Given the description of an element on the screen output the (x, y) to click on. 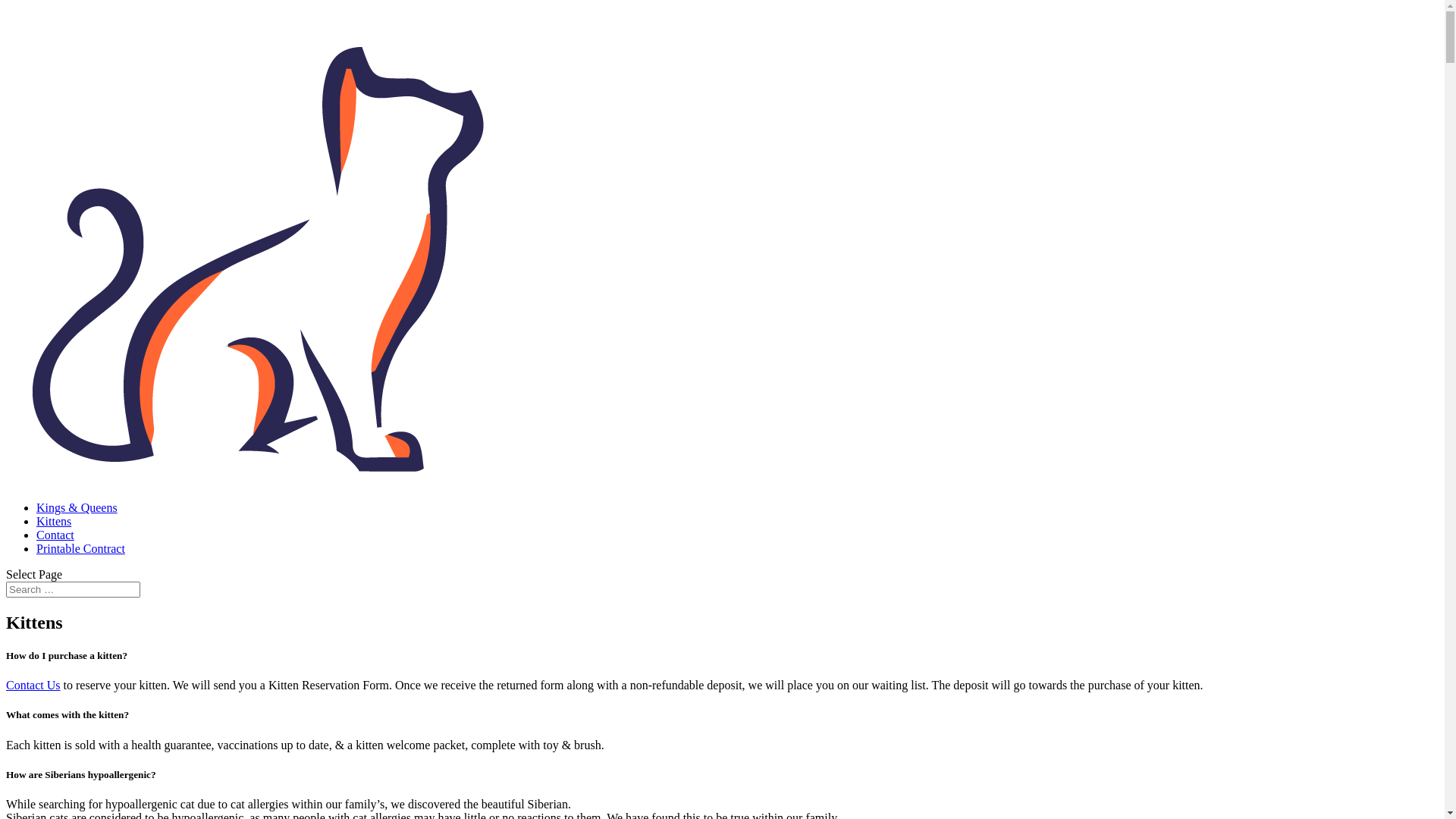
Contact Element type: text (55, 534)
Kittens Element type: text (53, 520)
Search for: Element type: hover (73, 589)
Contact Us Element type: text (33, 684)
Kings & Queens Element type: text (76, 507)
Printable Contract Element type: text (80, 548)
